Given the description of an element on the screen output the (x, y) to click on. 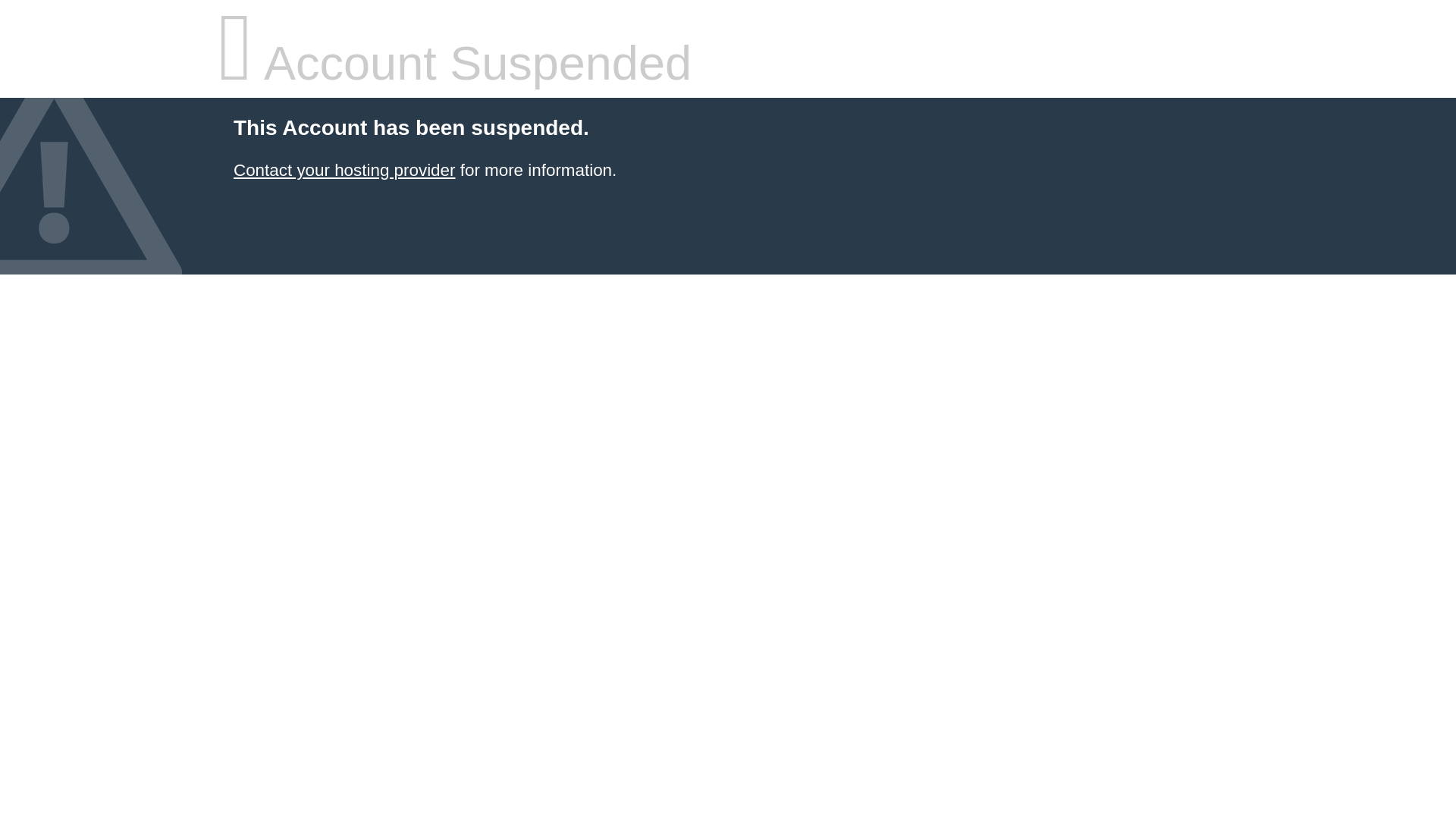
Contact your hosting provider (343, 169)
